Given the description of an element on the screen output the (x, y) to click on. 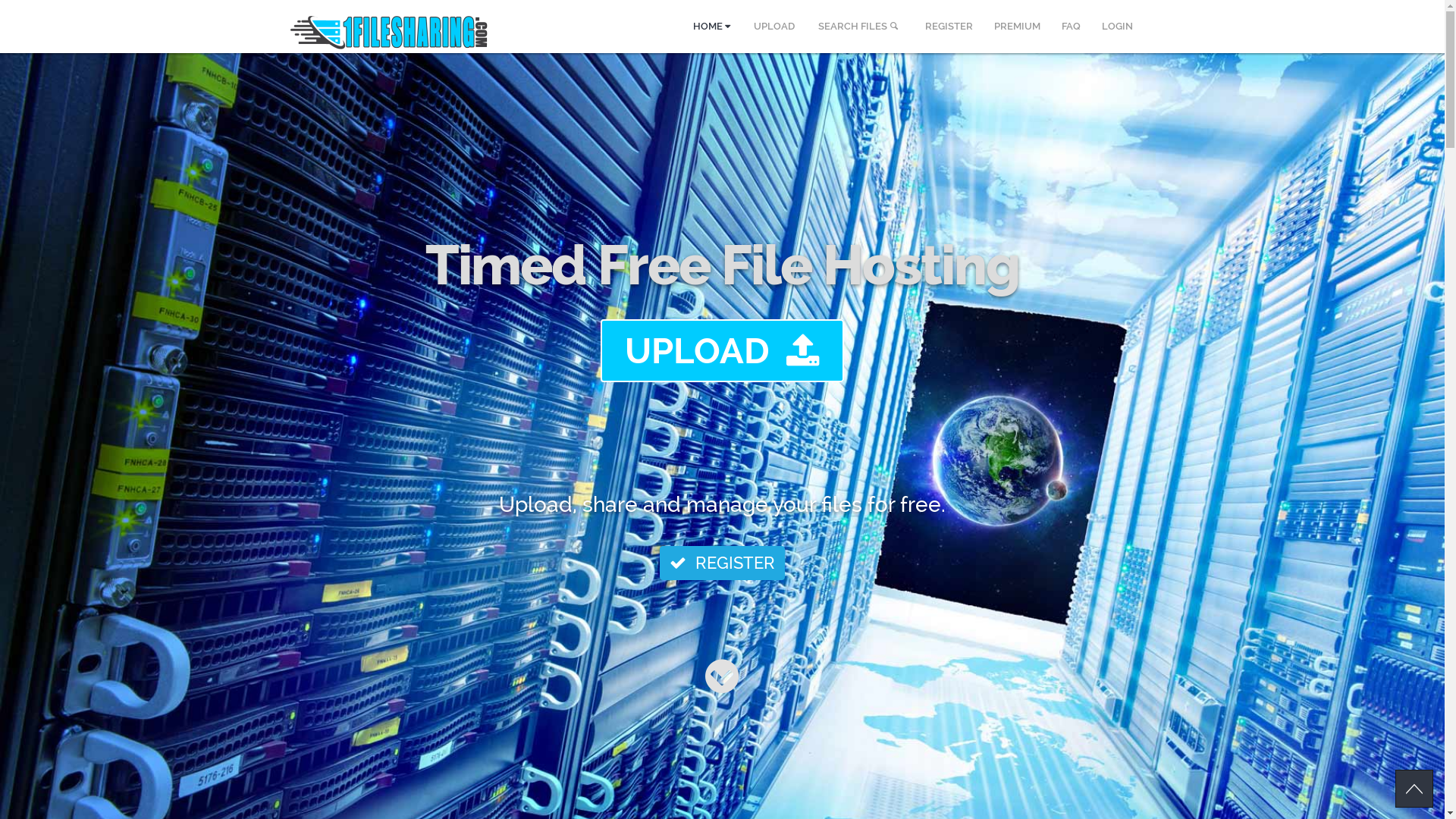
  REGISTER Element type: text (721, 563)
SEARCH FILES Element type: text (859, 26)
PREMIUM Element type: text (1016, 26)
HOME Element type: text (711, 26)
REGISTER Element type: text (948, 26)
Scroll Element type: text (1414, 788)
UPLOAD   Element type: text (722, 350)
FAQ Element type: text (1071, 26)
LOGIN Element type: text (1116, 26)
UPLOAD Element type: text (774, 26)
